Given the description of an element on the screen output the (x, y) to click on. 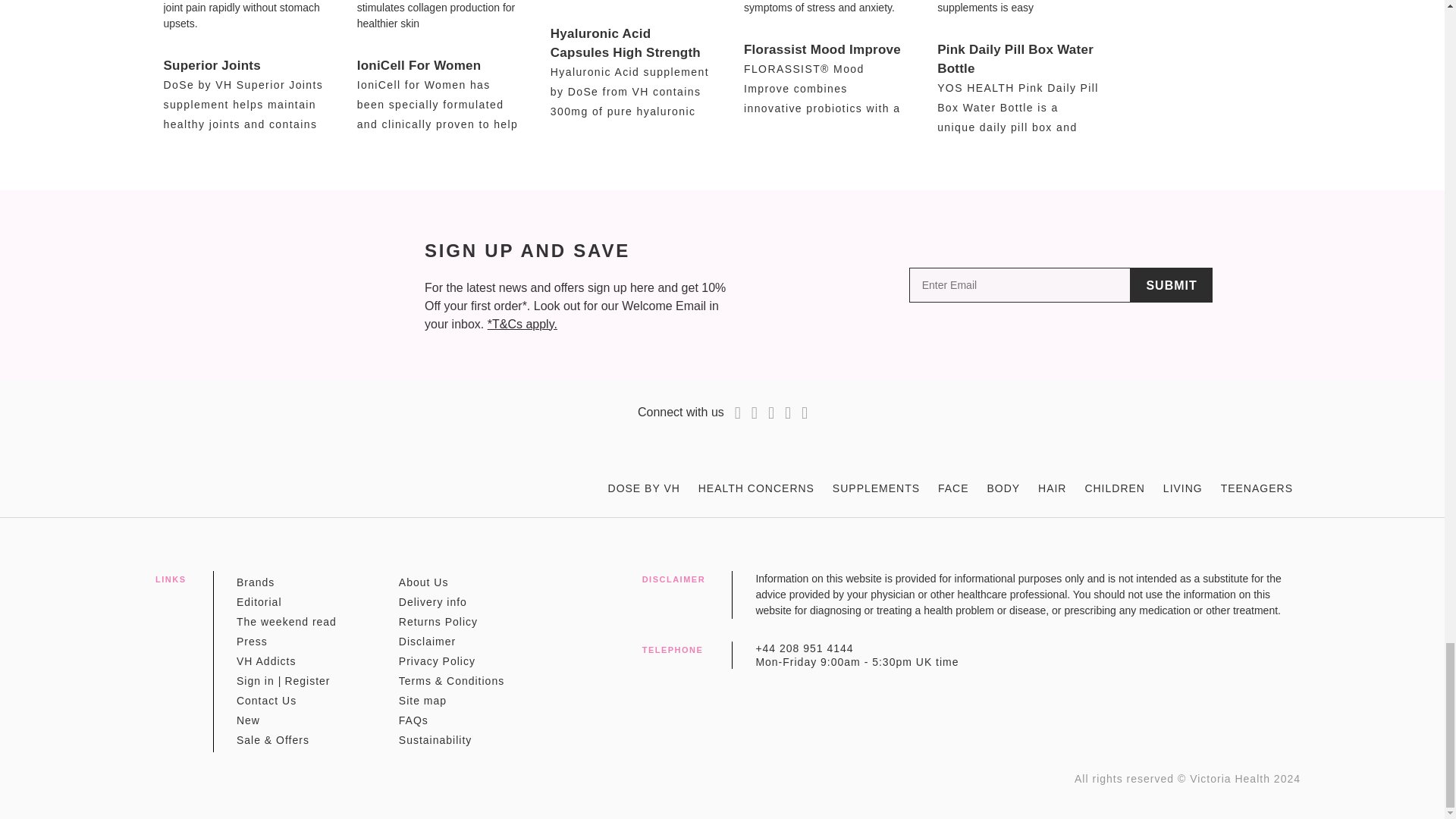
Submit (1171, 284)
